Given the description of an element on the screen output the (x, y) to click on. 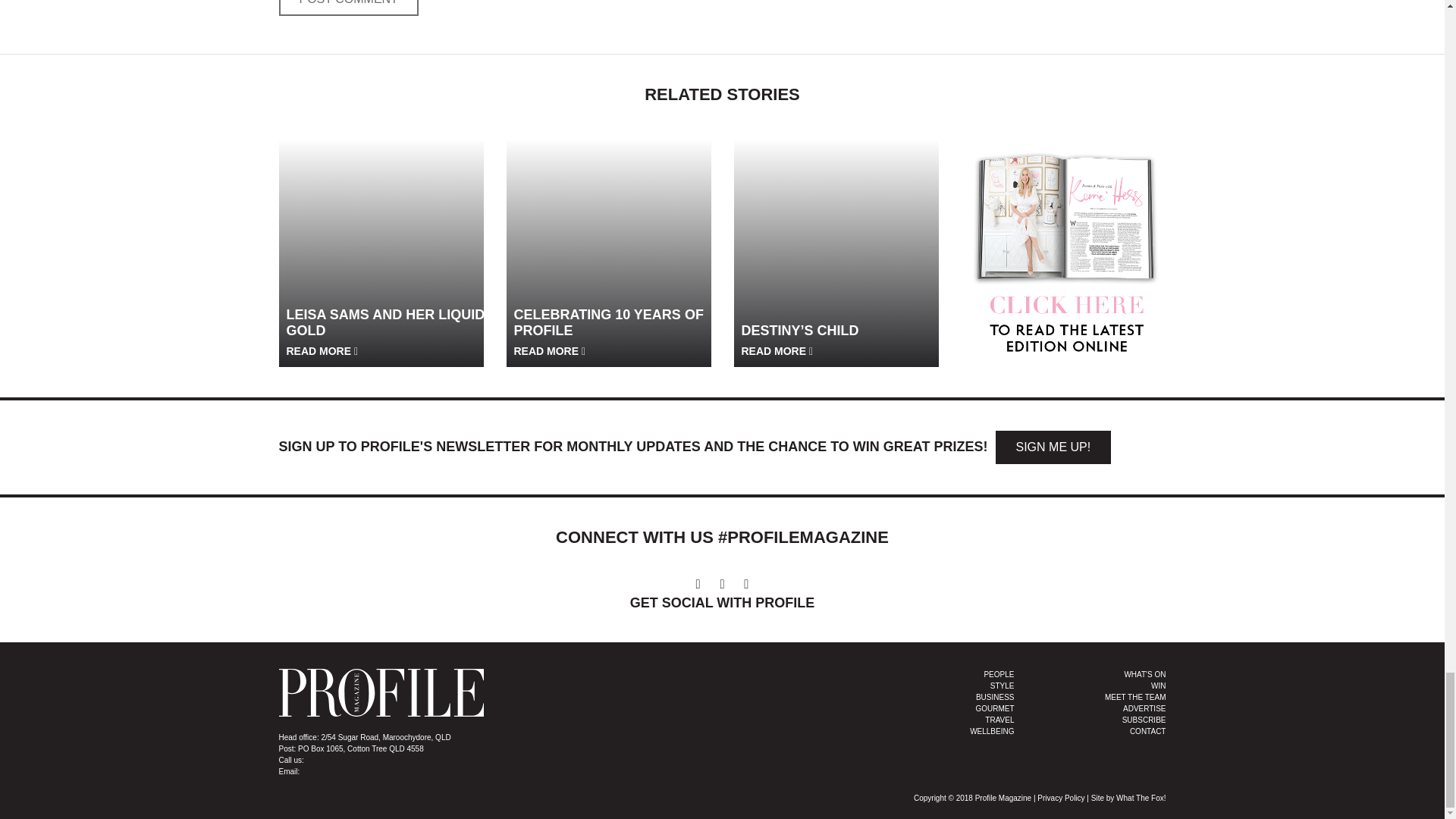
Post Comment (349, 7)
subscribe to our newsletter (1052, 447)
Post Comment (349, 7)
Celebrating 10 years of Profile (608, 240)
Leisa Sams and her liquid gold (381, 240)
READ MORE (549, 350)
LEISA SAMS AND HER LIQUID GOLD (386, 332)
READ MORE (322, 350)
CELEBRATING 10 YEARS OF PROFILE (613, 332)
